Given the description of an element on the screen output the (x, y) to click on. 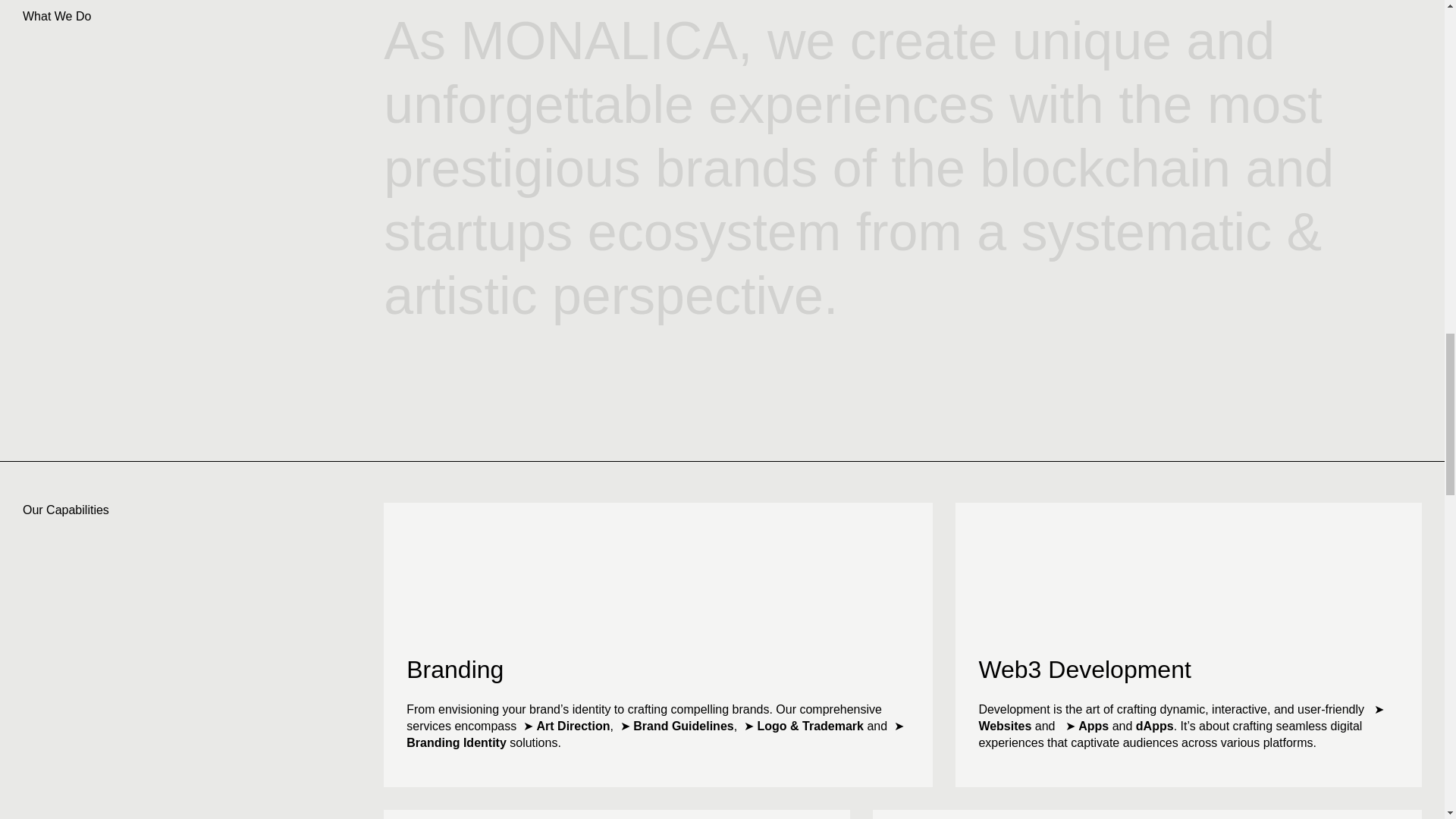
Branding (454, 669)
Web3 Development (1084, 669)
